Given the description of an element on the screen output the (x, y) to click on. 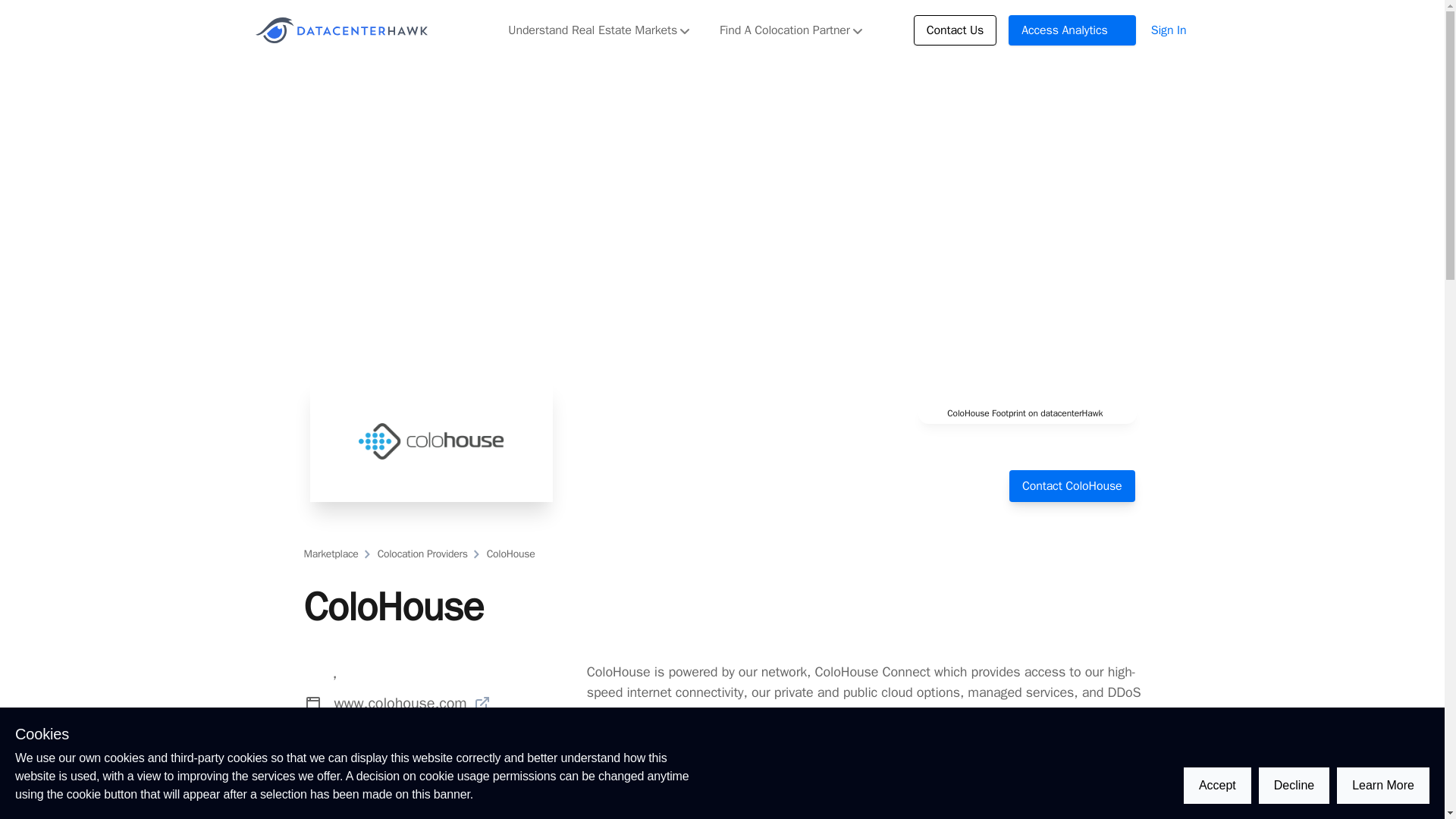
Marketplace (330, 554)
www.colohouse.com (411, 702)
Find A Colocation Partner (790, 30)
Understand Real Estate Markets (599, 30)
Colocation Providers (421, 554)
ColoHouse (509, 554)
Access Analytics (1072, 30)
Sign In (1168, 30)
Contact ColoHouse (1071, 486)
